Given the description of an element on the screen output the (x, y) to click on. 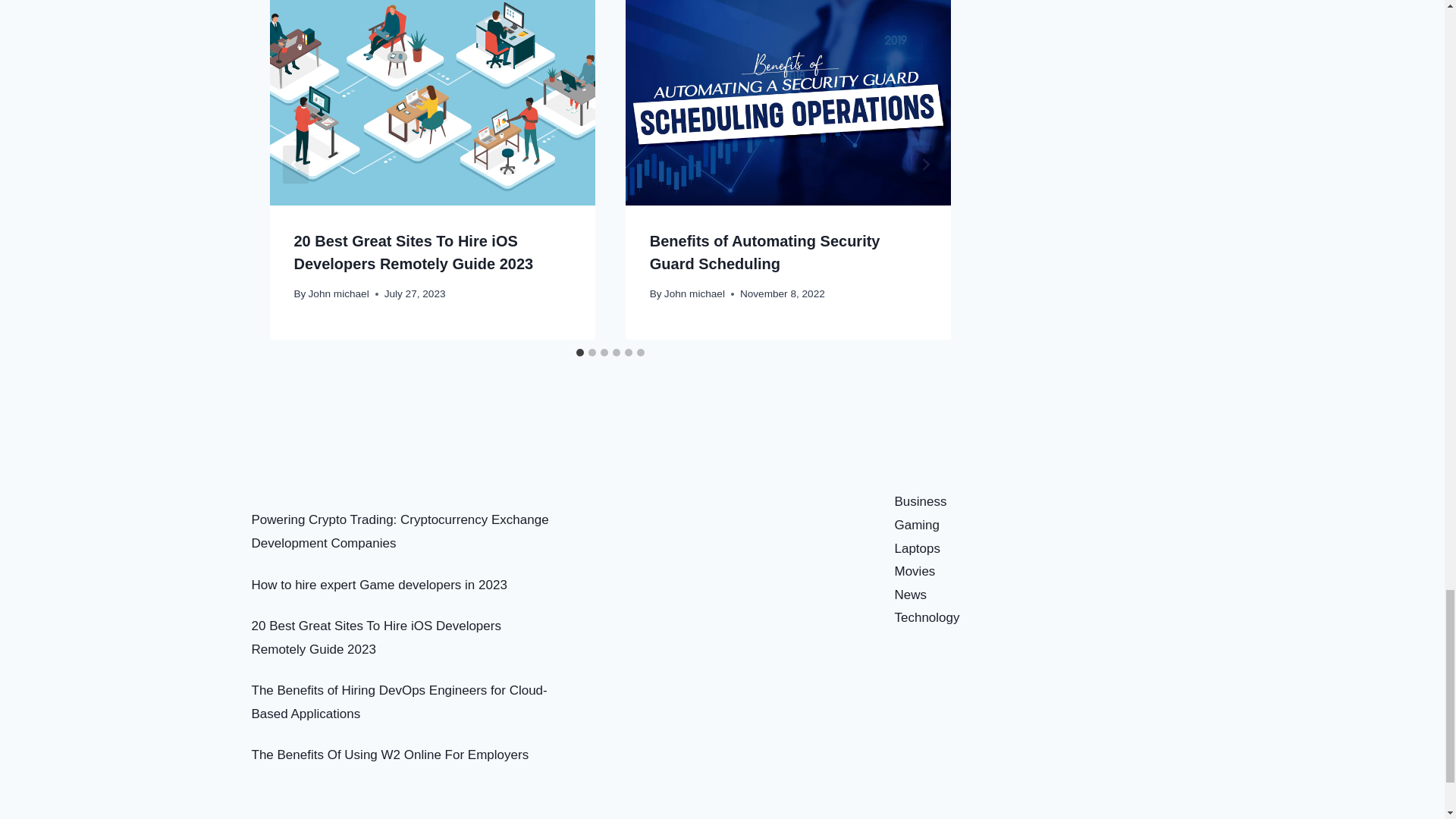
John michael (694, 293)
Benefits of Automating Security Guard Scheduling (764, 251)
John michael (338, 293)
